Given the description of an element on the screen output the (x, y) to click on. 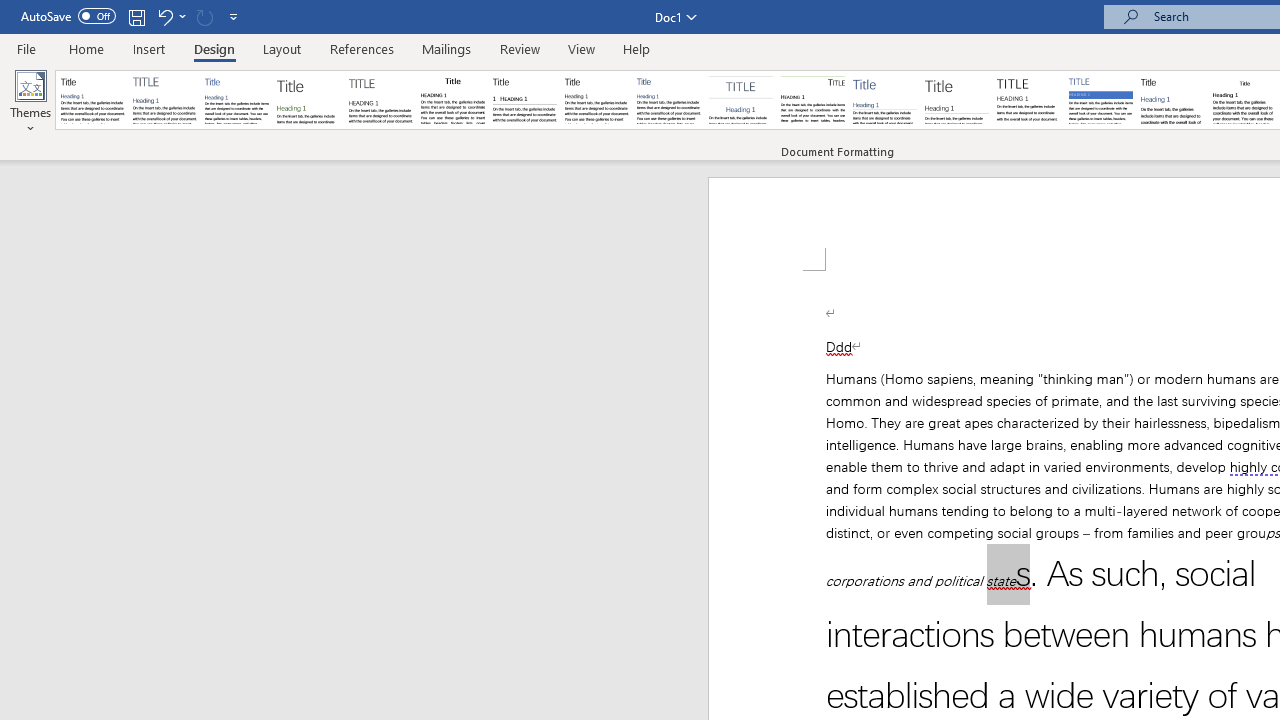
Can't Repeat (204, 15)
Centered (740, 100)
Undo Apply Quick Style Set (164, 15)
Basic (Elegant) (164, 100)
Black & White (Classic) (452, 100)
Basic (Stylish) (308, 100)
